Given the description of an element on the screen output the (x, y) to click on. 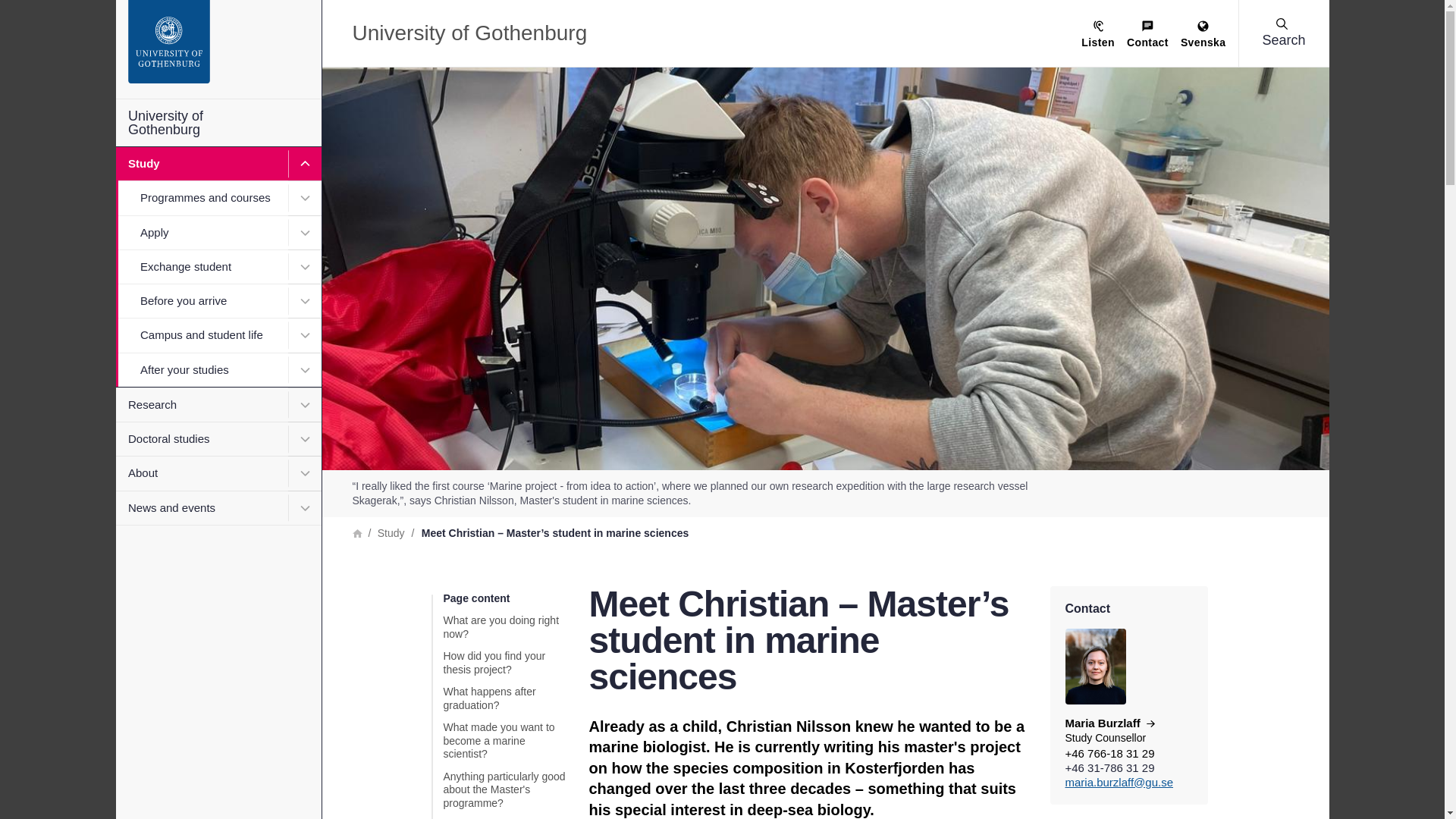
University of Gothenburg (217, 122)
Listen with ReadSpeaker (1098, 35)
Apply (217, 232)
Search function (105, 11)
Submenu for Programmes and courses (304, 197)
Programmes and courses (217, 197)
Submenu for Study (304, 163)
Study (217, 163)
Submenu for Apply (304, 232)
